Given the description of an element on the screen output the (x, y) to click on. 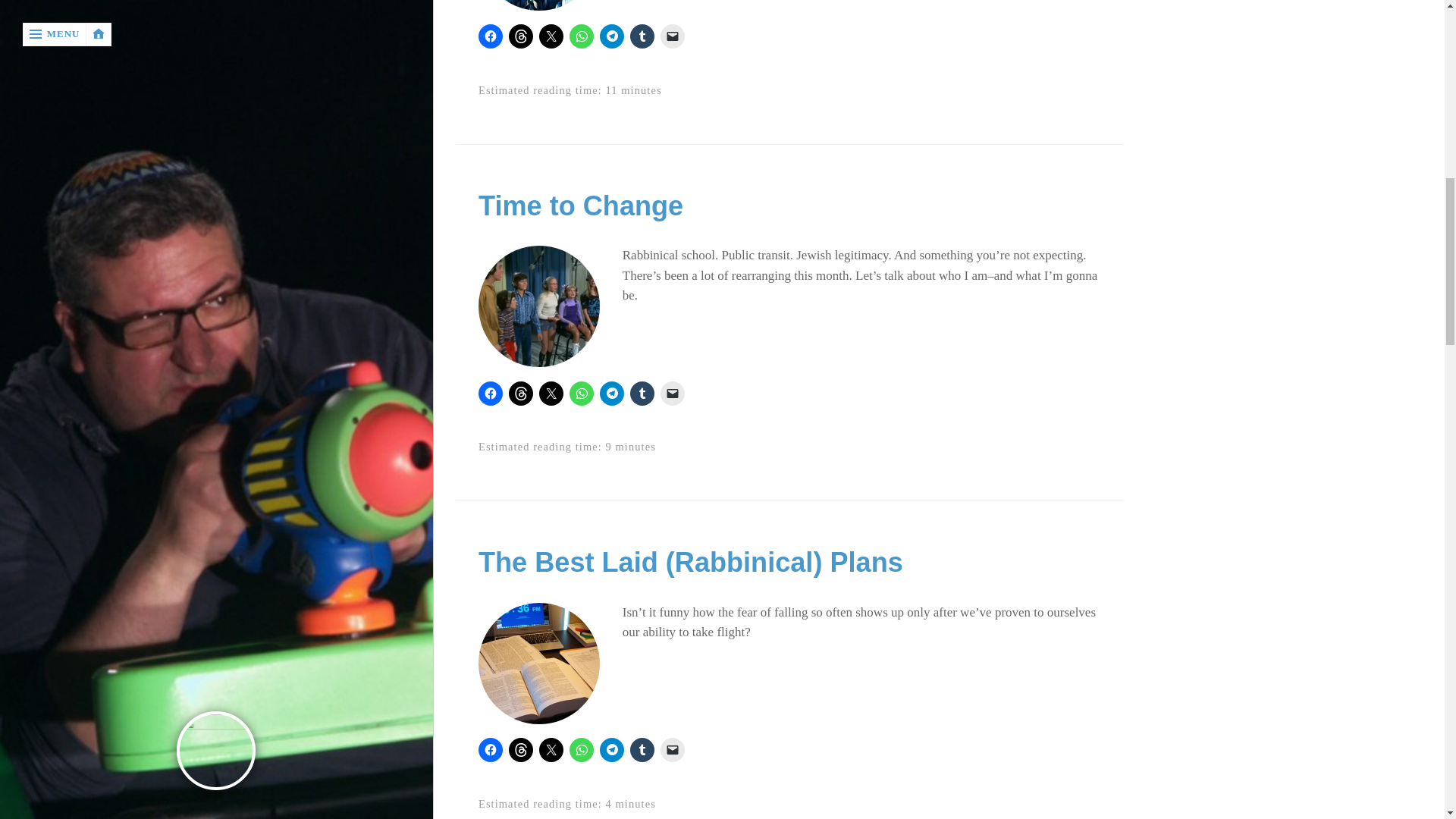
Click to share on WhatsApp (581, 36)
Click to share on Telegram (611, 36)
Click to share on X (550, 36)
Click to share on Facebook (490, 36)
Click to share on Threads (520, 36)
